Given the description of an element on the screen output the (x, y) to click on. 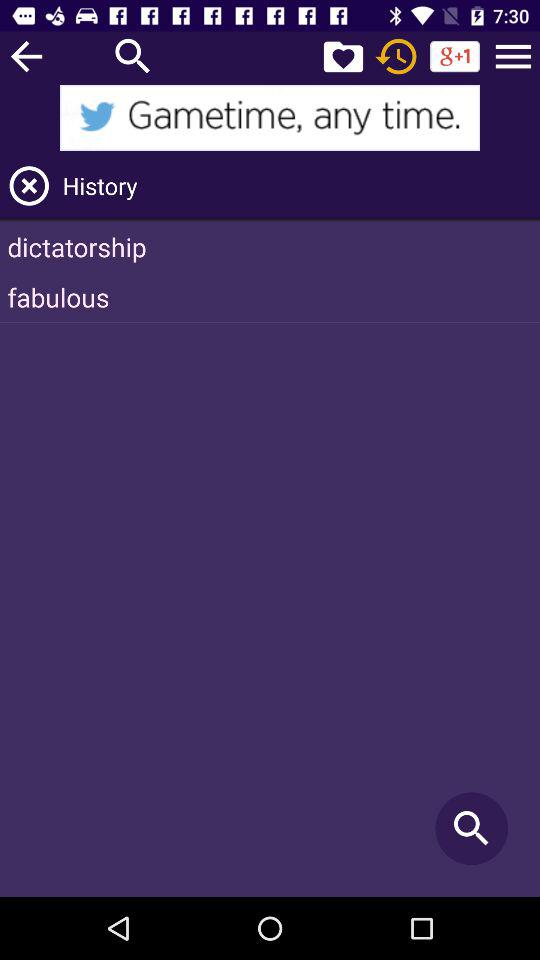
jump until dictatorship item (270, 246)
